Given the description of an element on the screen output the (x, y) to click on. 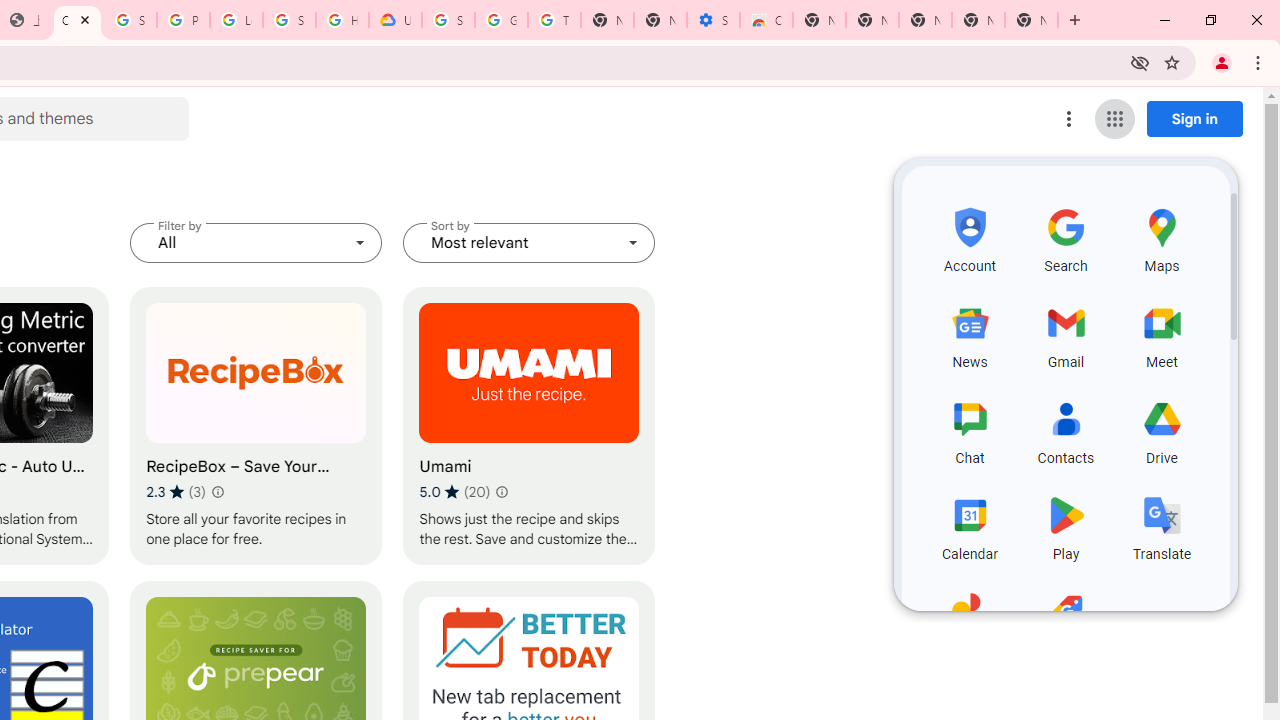
Settings - Accessibility (713, 20)
Average rating 5 out of 5 stars. 20 ratings. (454, 491)
Umami (529, 426)
New Tab (1031, 20)
